Given the description of an element on the screen output the (x, y) to click on. 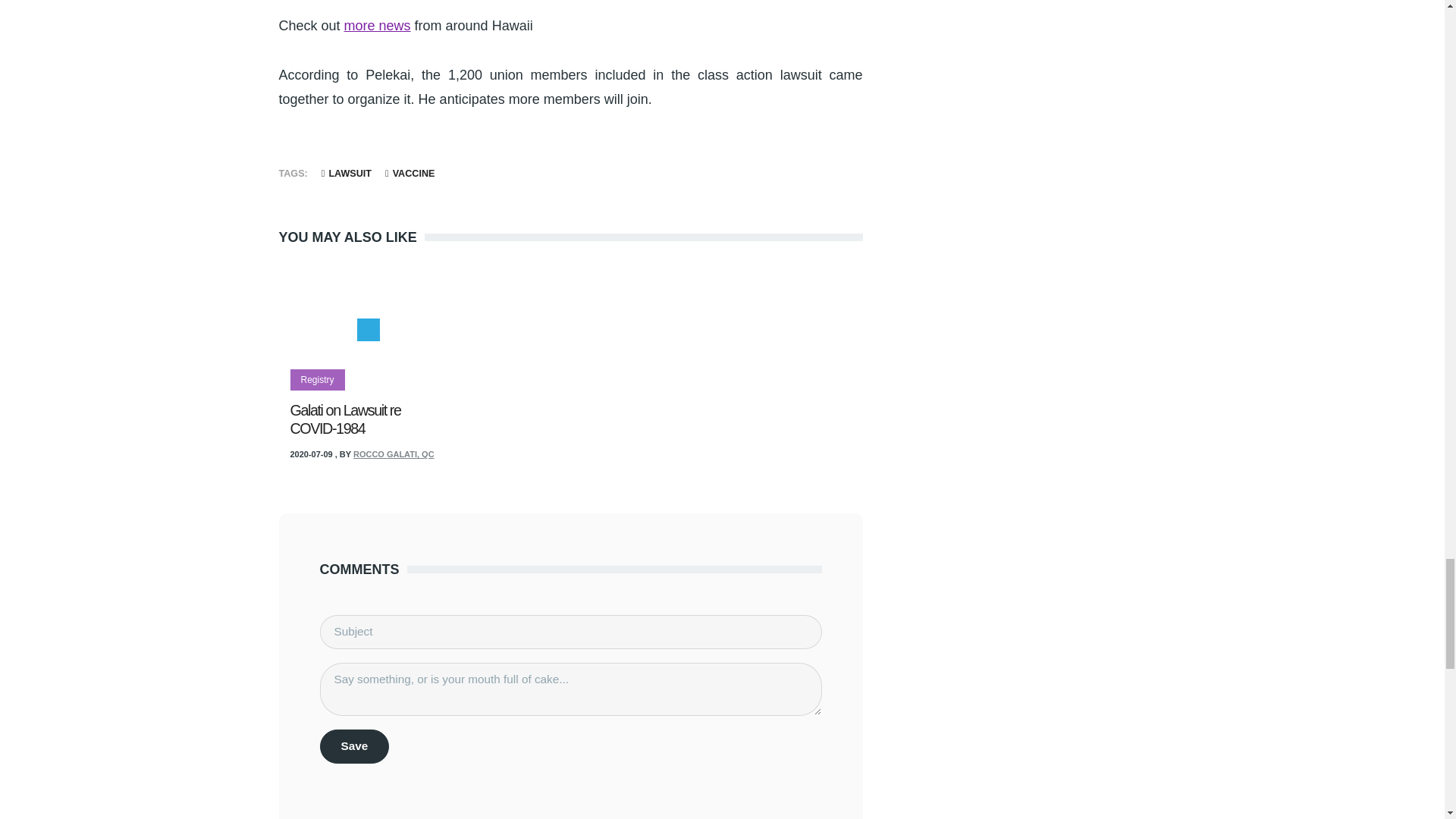
View user profile. (393, 453)
Save (355, 746)
